Given the description of an element on the screen output the (x, y) to click on. 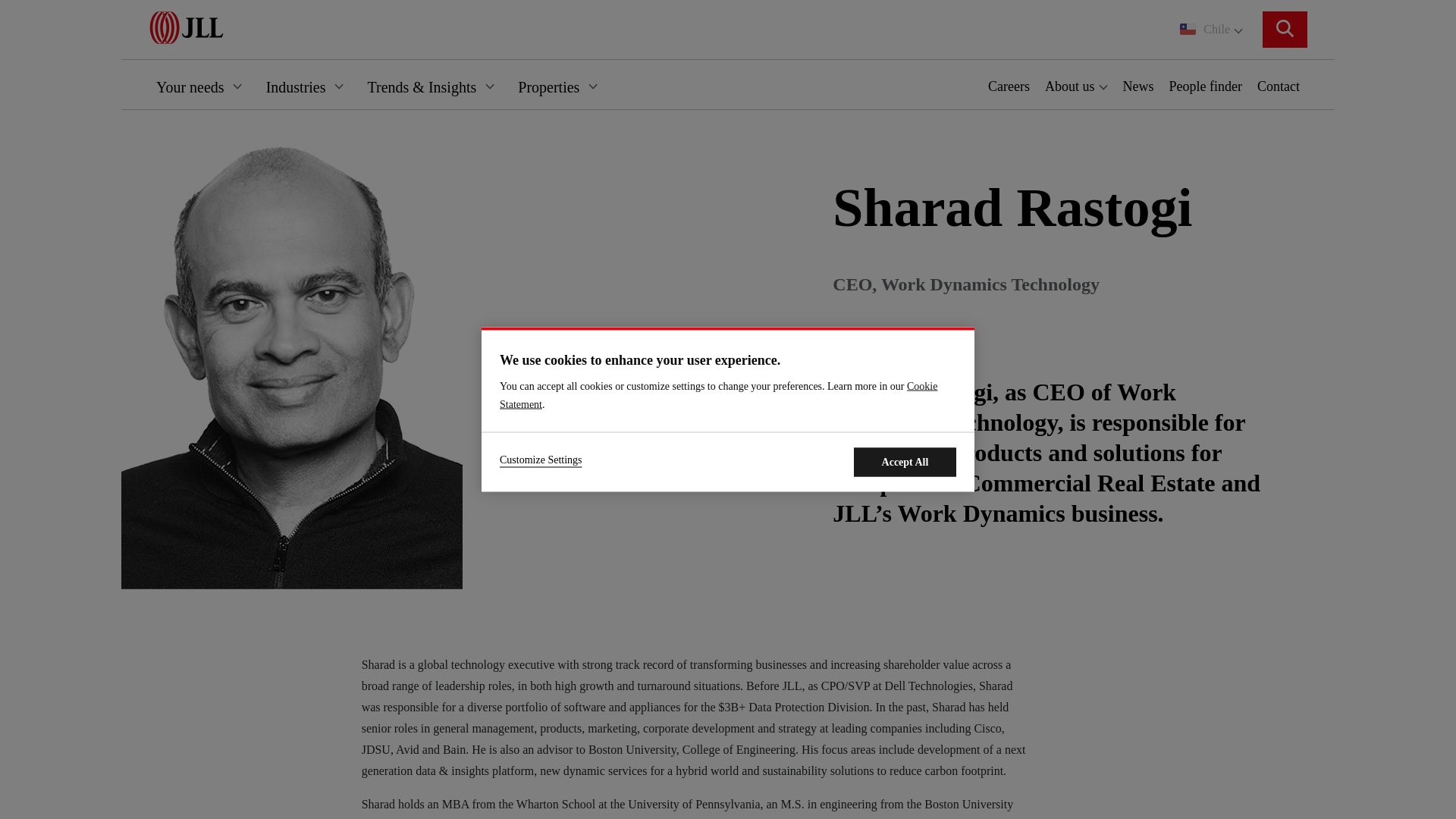
Chile (1211, 29)
